Given the description of an element on the screen output the (x, y) to click on. 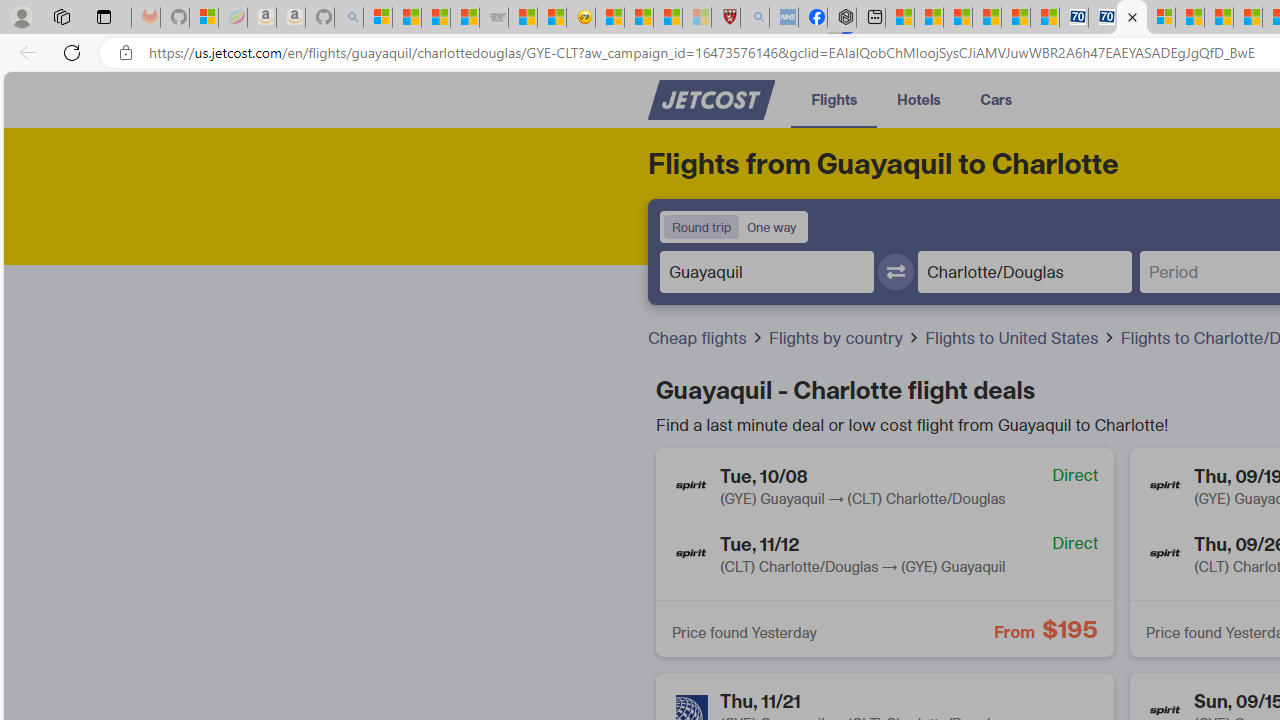
Flights by country (837, 337)
Class: absolute inset-0 (884, 551)
